Given the description of an element on the screen output the (x, y) to click on. 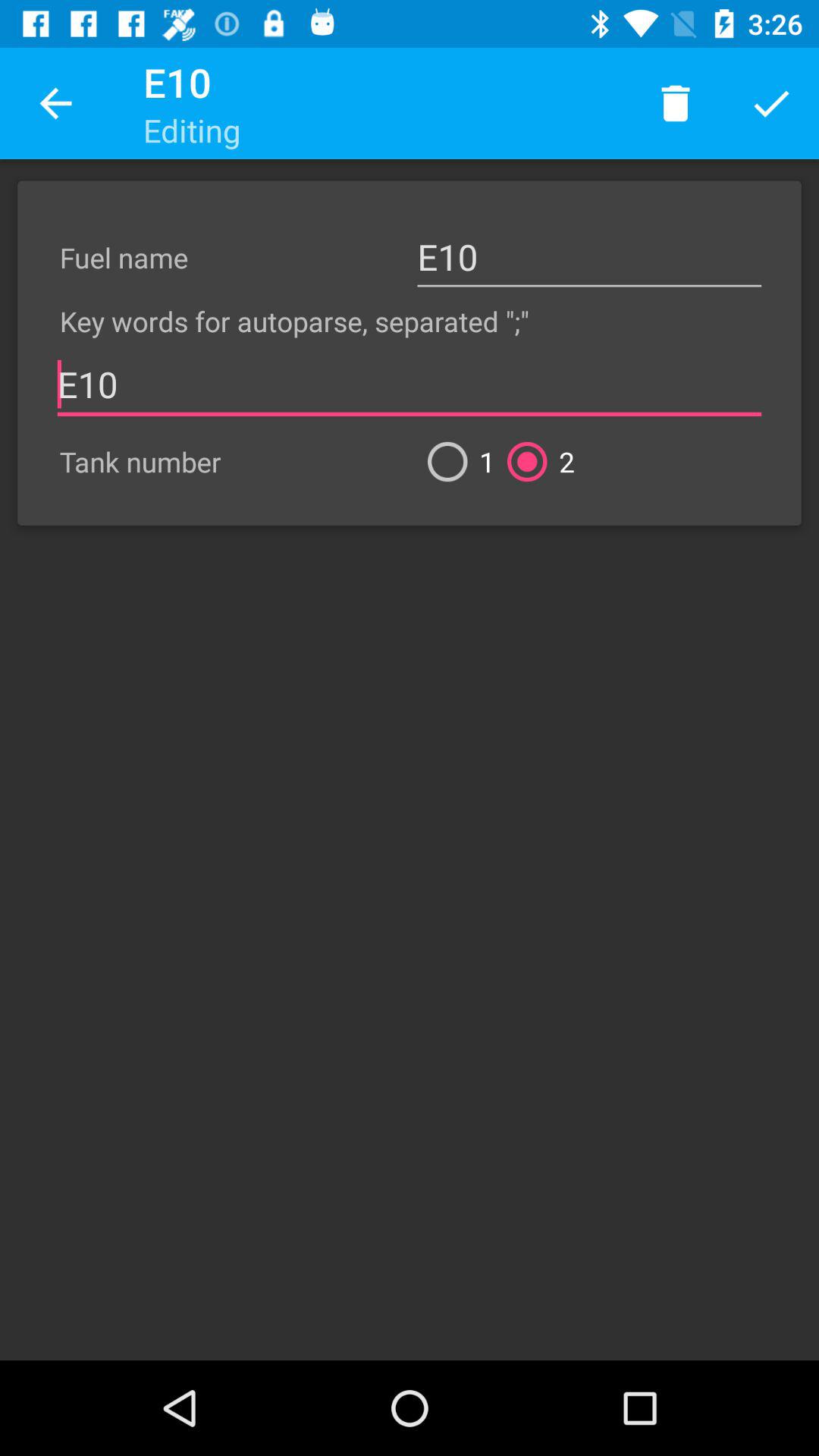
swipe to 2 icon (535, 461)
